Given the description of an element on the screen output the (x, y) to click on. 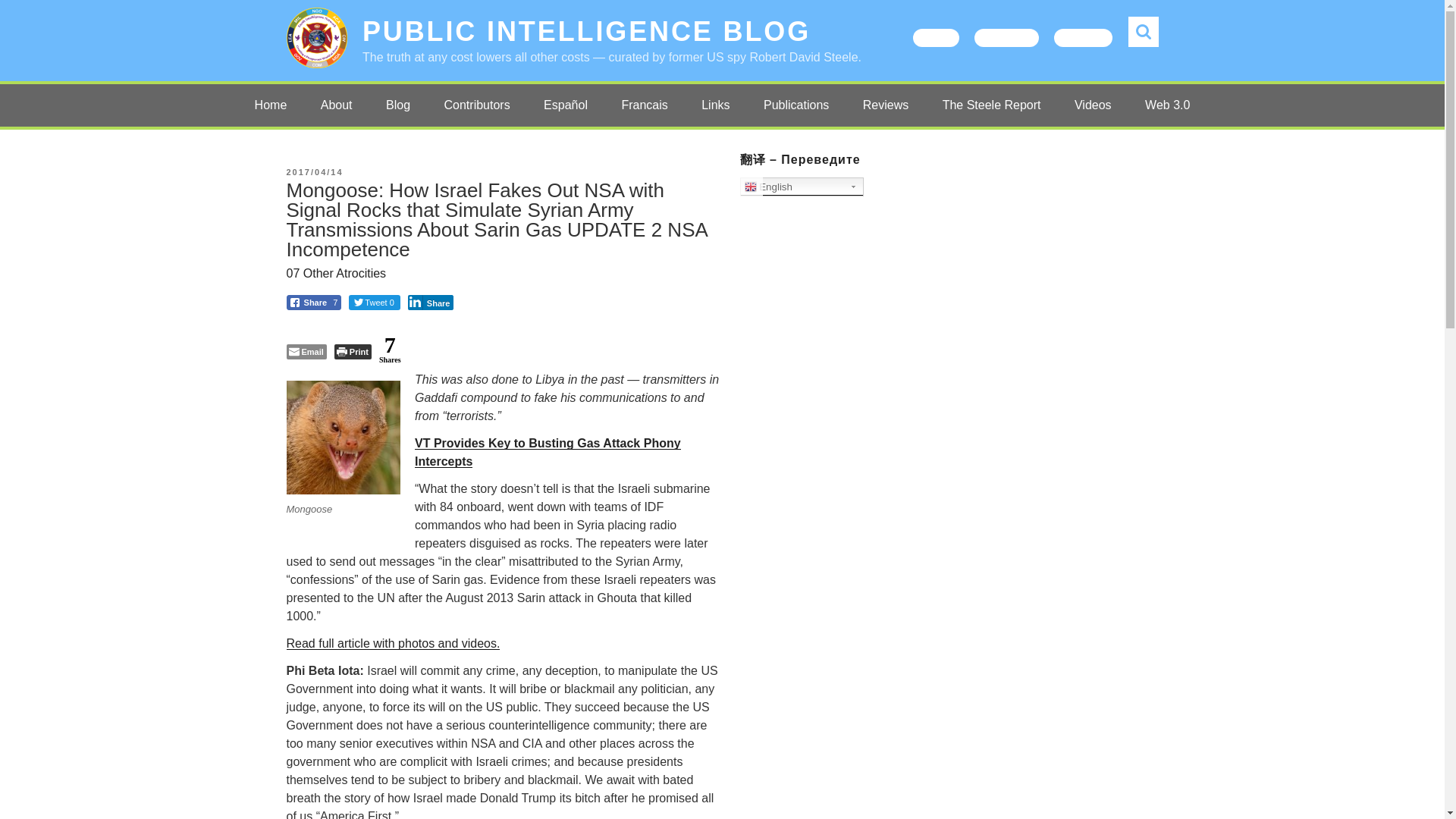
Blog (398, 105)
PUBLIC INTELLIGENCE BLOG (586, 30)
Publications (796, 105)
About (336, 105)
Tweet 0 (374, 302)
English (801, 186)
Videos (1092, 105)
Contributors (477, 105)
Print (352, 351)
